Given the description of an element on the screen output the (x, y) to click on. 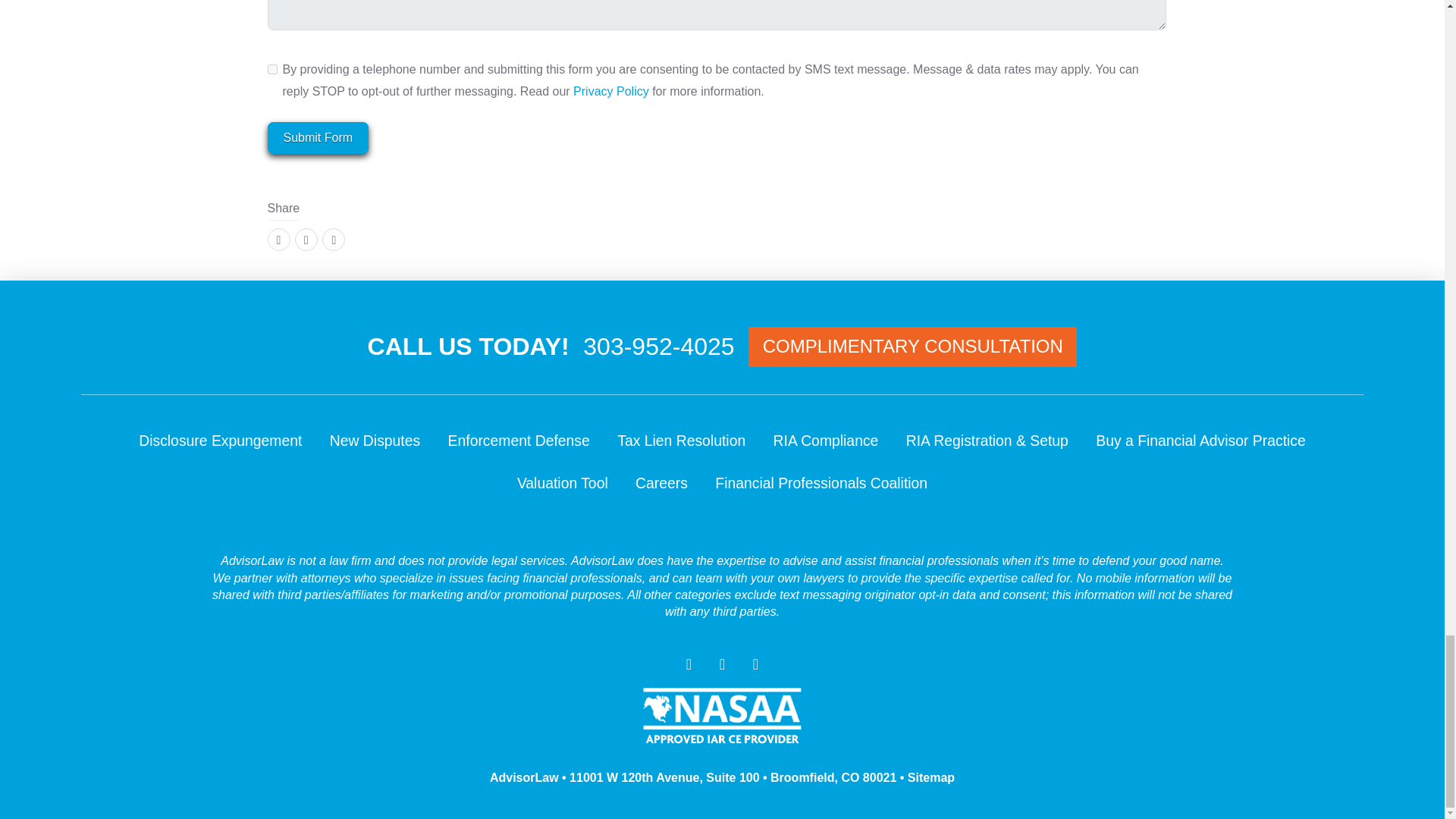
on (271, 68)
Twitter (306, 239)
LinkedIn (333, 239)
Facebook (277, 239)
